Given the description of an element on the screen output the (x, y) to click on. 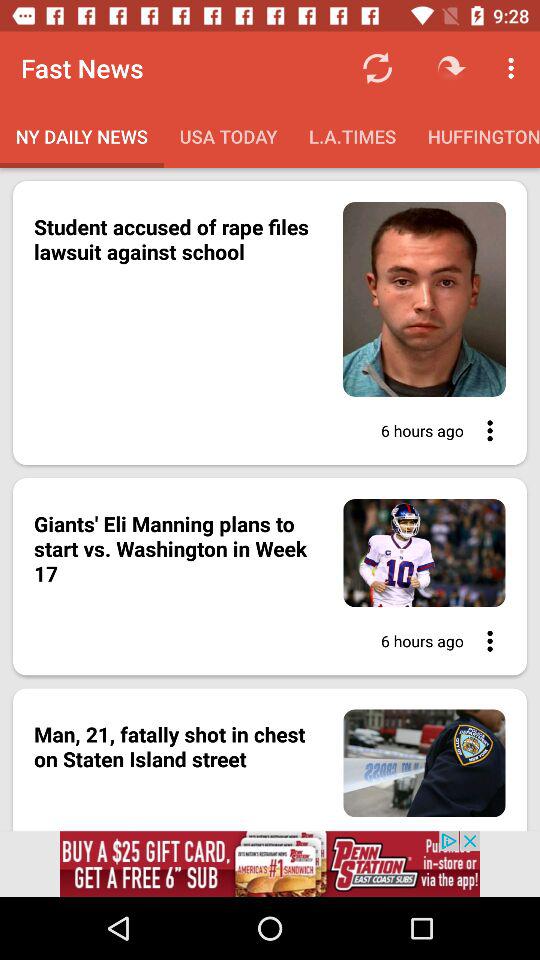
menu icon (484, 430)
